Given the description of an element on the screen output the (x, y) to click on. 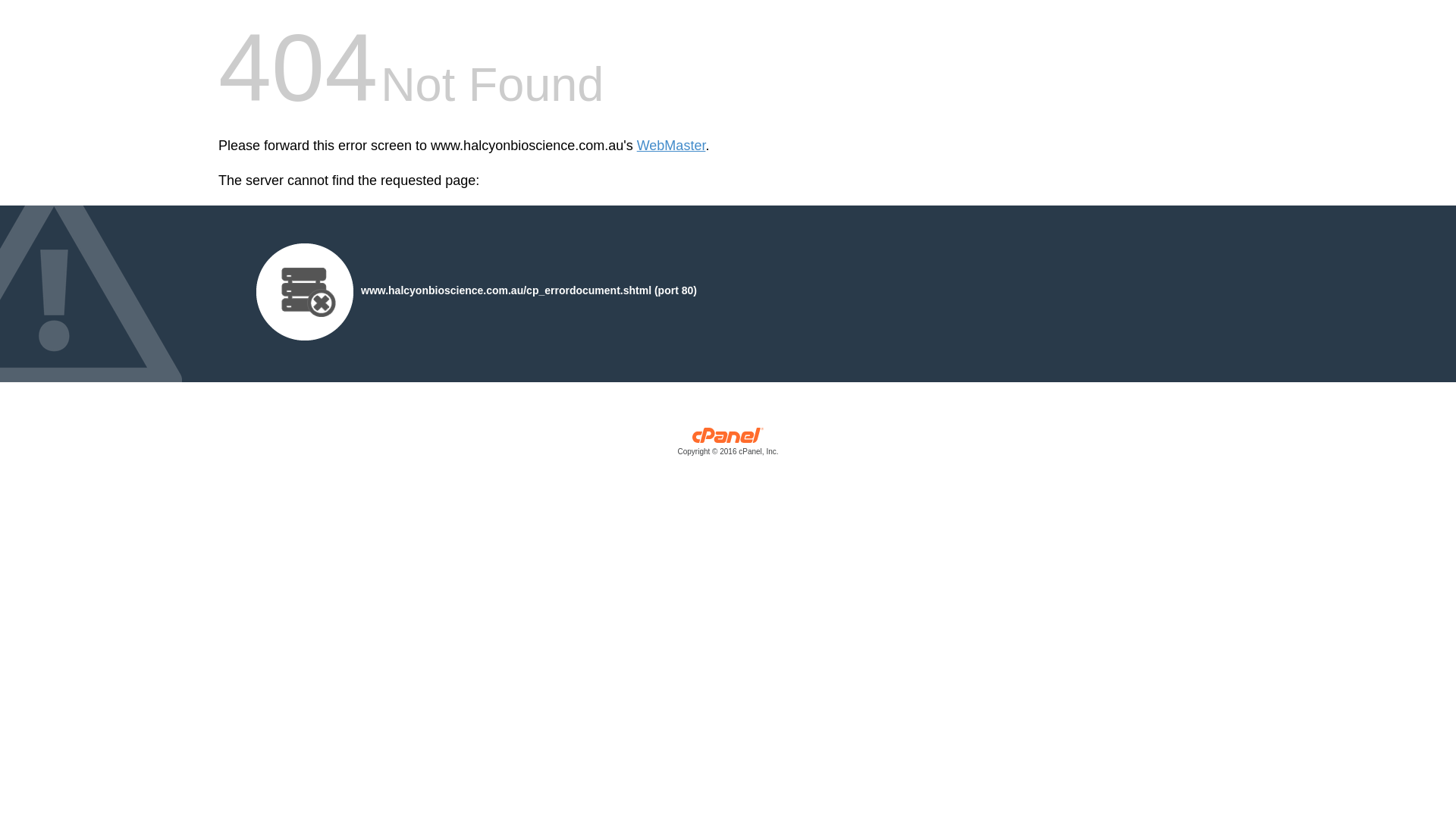
WebMaster Element type: text (671, 145)
